Given the description of an element on the screen output the (x, y) to click on. 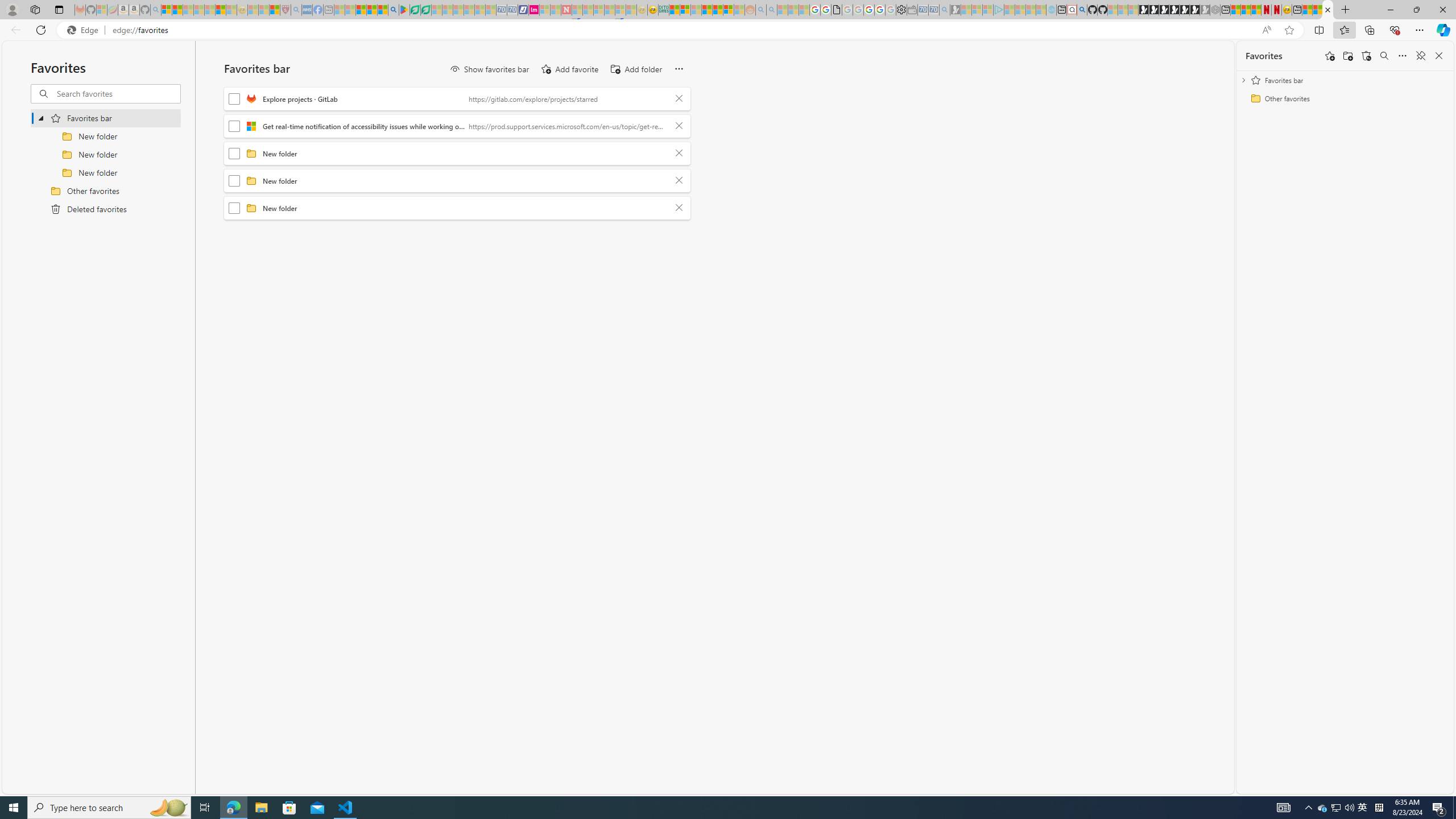
Cheap Hotels - Save70.com - Sleeping (512, 9)
Edge (84, 29)
New folder (465, 207)
Cheap Car Rentals - Save70.com - Sleeping (933, 9)
Expert Portfolios (707, 9)
Kinda Frugal - MSN (717, 9)
